Given the description of an element on the screen output the (x, y) to click on. 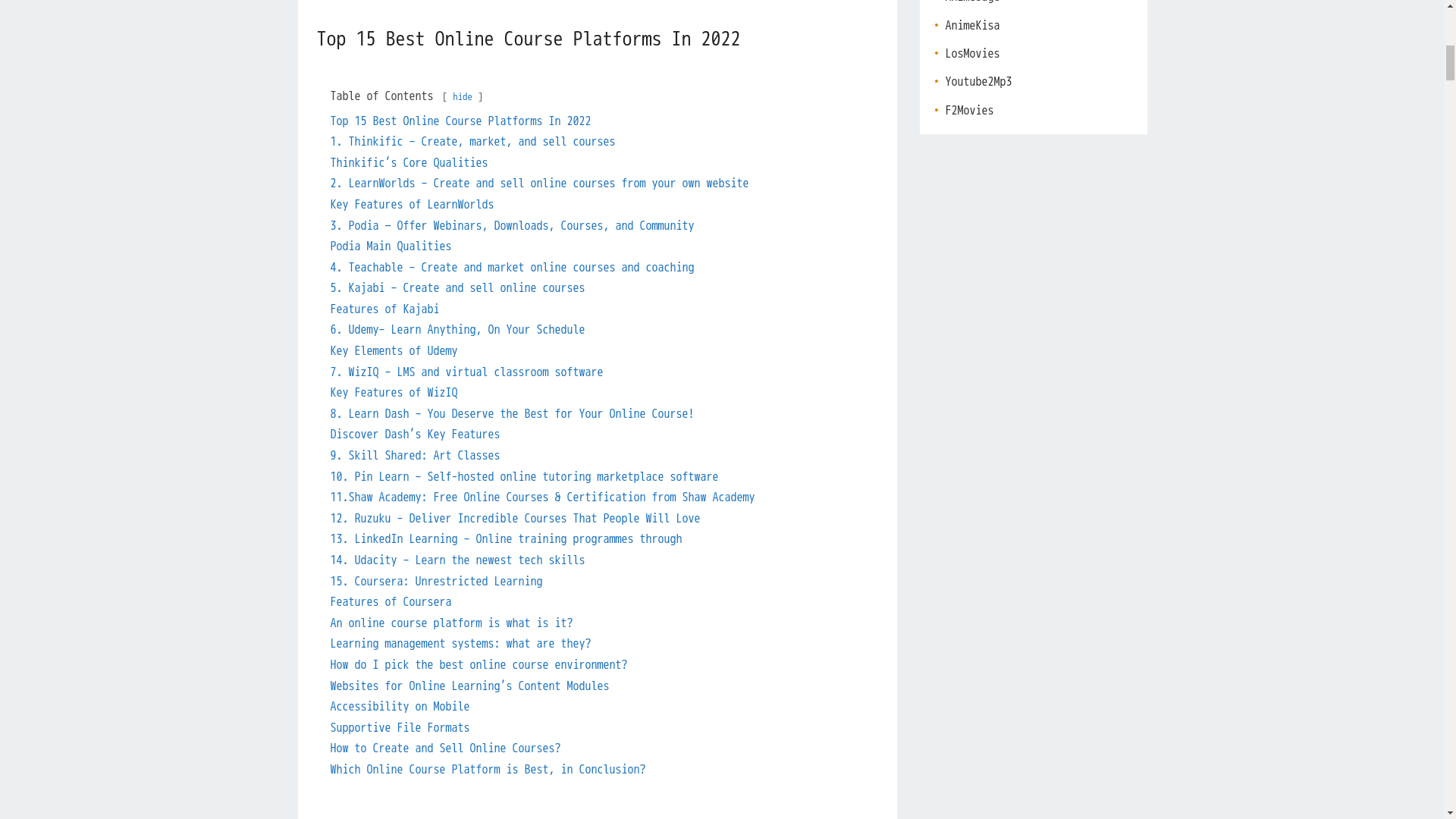
Top 15 Best Online Course Platforms In 2022 (460, 120)
hide (461, 96)
Key Features of LearnWorlds (412, 204)
